Given the description of an element on the screen output the (x, y) to click on. 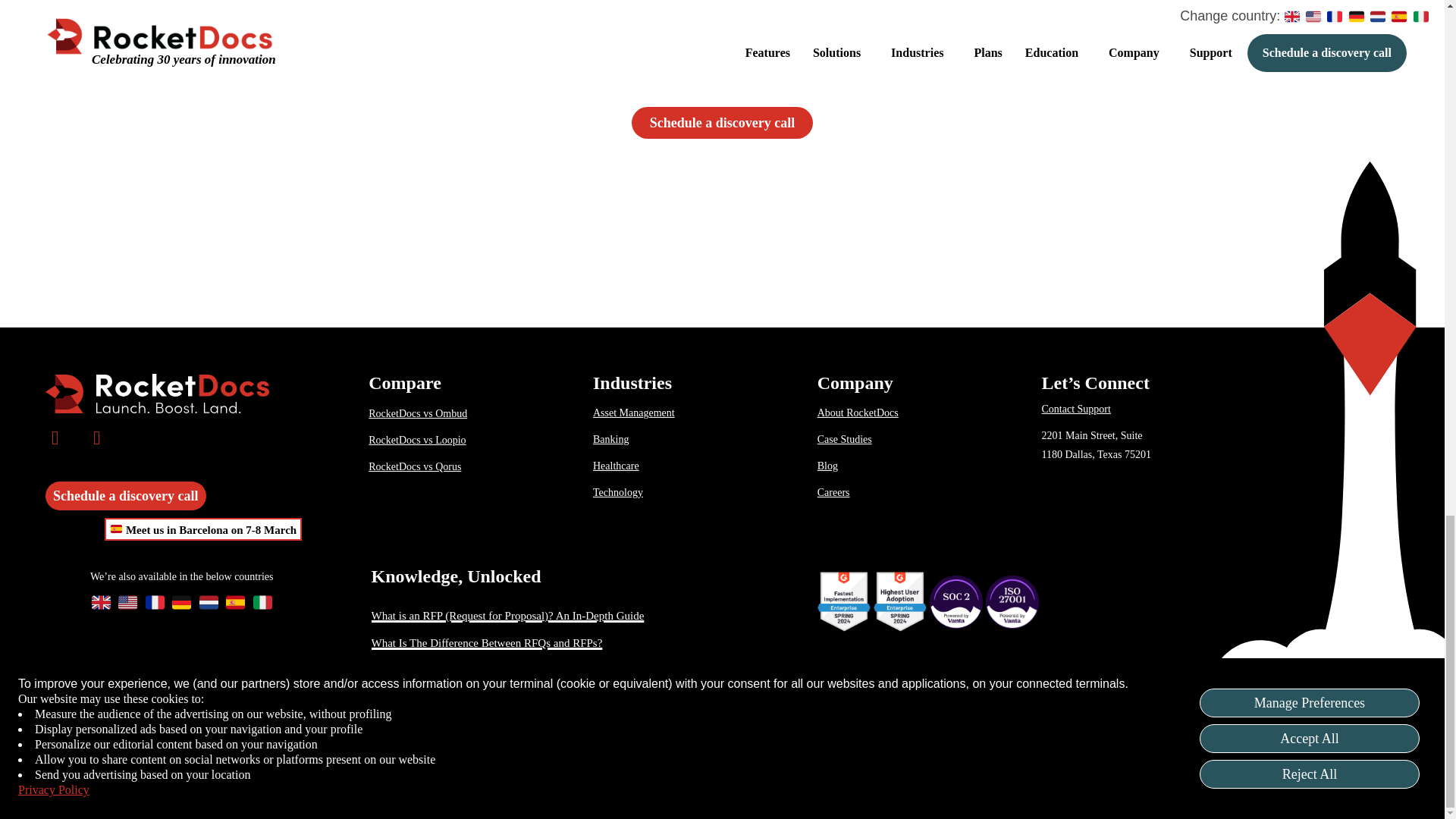
RocketDocs is a leader in Enterprise User Adoption on G2 (899, 600)
RocketDocs is a leader in Enterprise Proposal on G2 (843, 600)
